Given the description of an element on the screen output the (x, y) to click on. 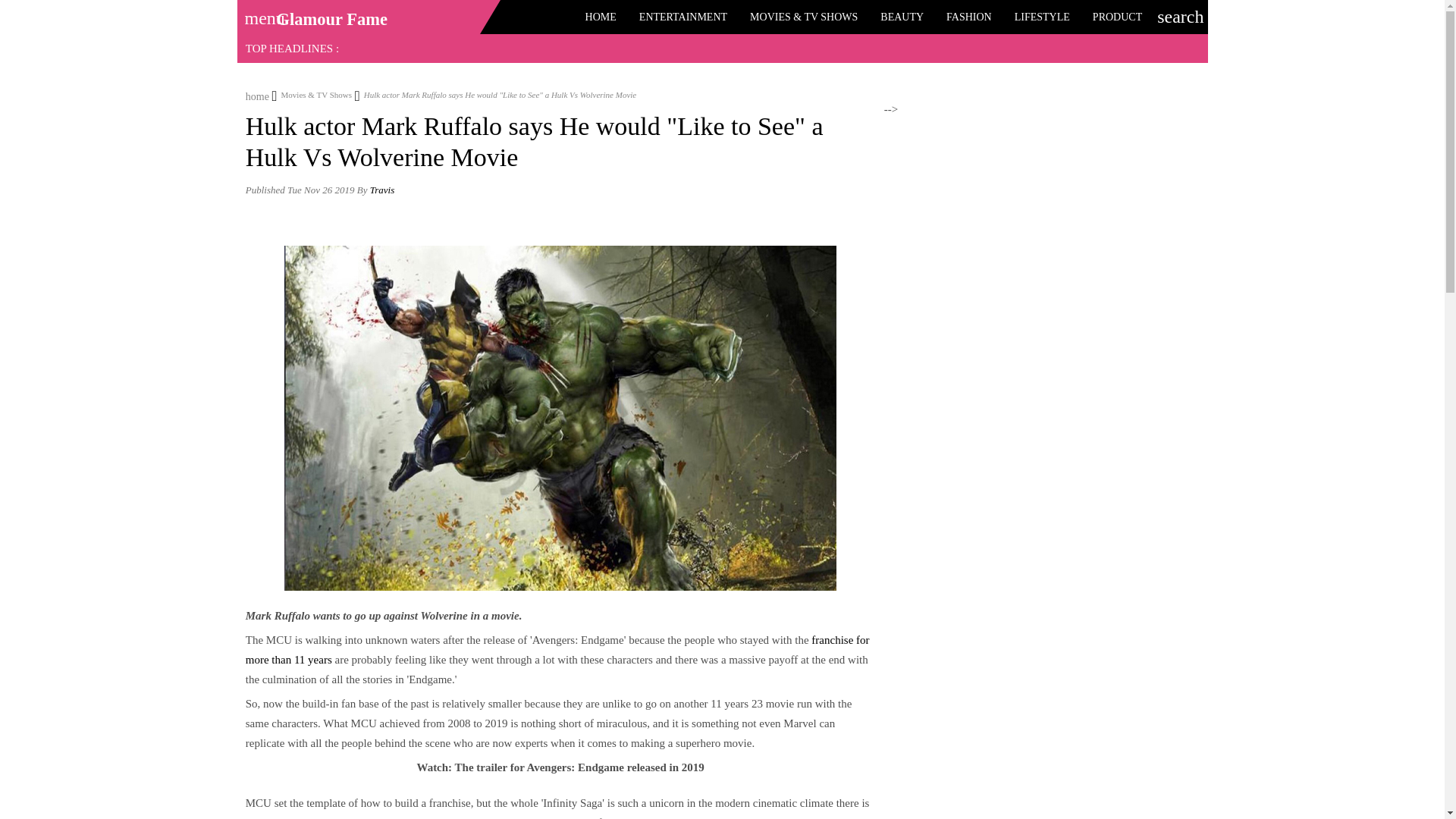
franchise for more than 11 years (557, 649)
Travis (381, 189)
PRODUCT (1117, 17)
HOME (600, 17)
menu (259, 13)
Glamour Fame (331, 18)
ENTERTAINMENT (682, 17)
FASHION (968, 17)
LIFESTYLE (1042, 17)
BEAUTY (901, 17)
home (257, 94)
